Given the description of an element on the screen output the (x, y) to click on. 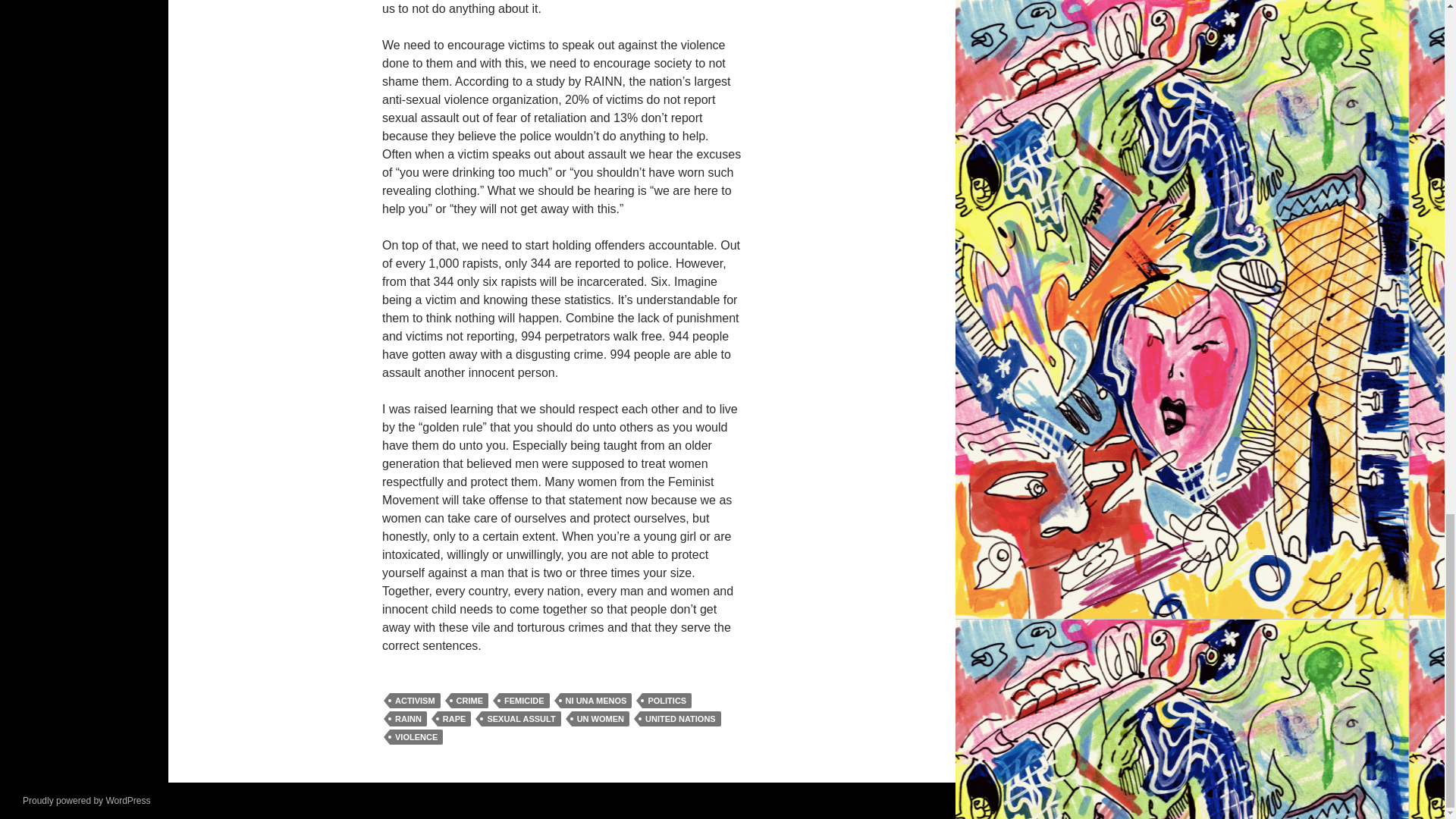
CRIME (469, 700)
FEMICIDE (524, 700)
ACTIVISM (415, 700)
